Given the description of an element on the screen output the (x, y) to click on. 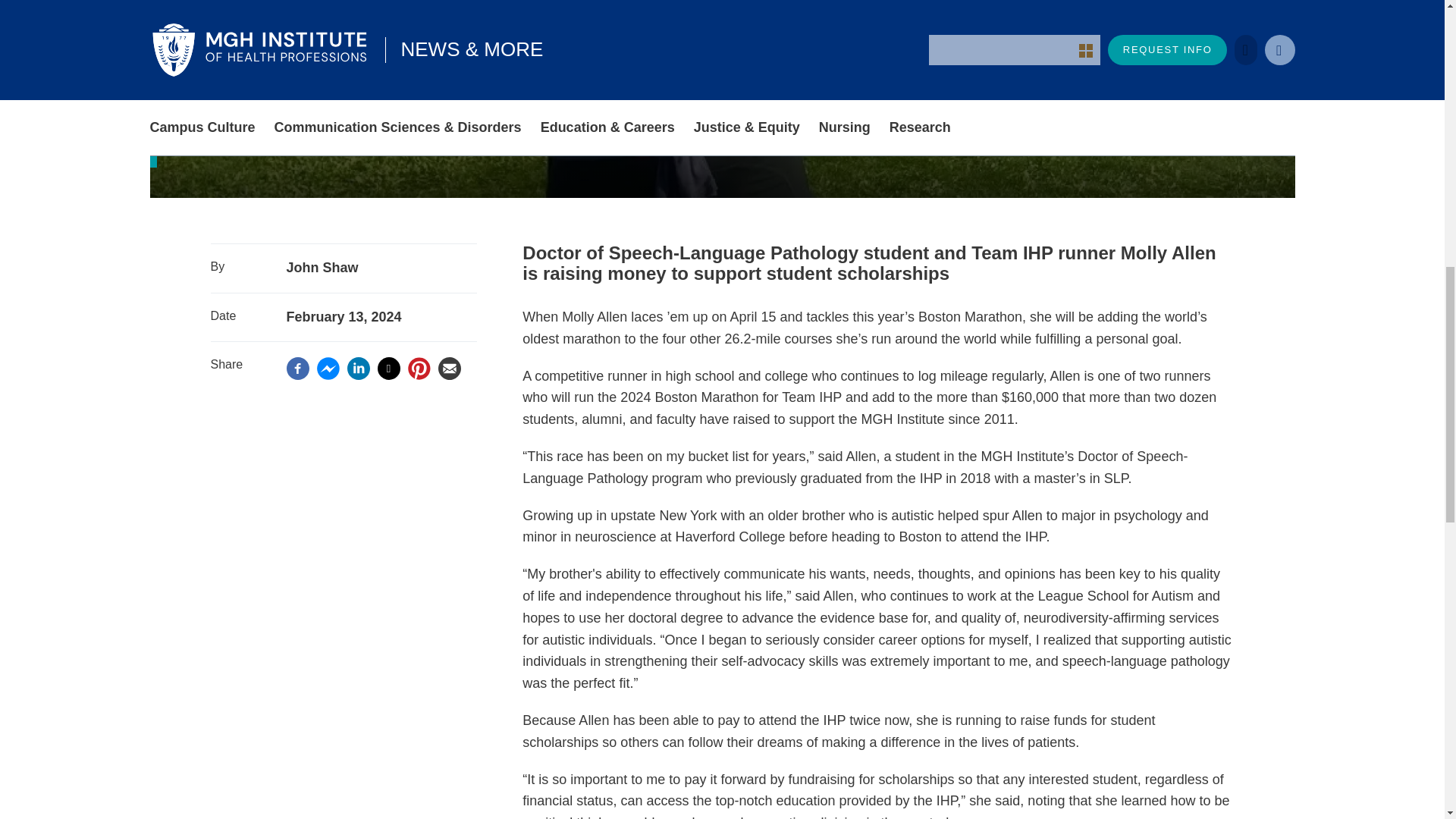
Facebook messenger (328, 366)
Pinterest (418, 366)
Twitter (388, 368)
Email (449, 366)
Linkedin (358, 366)
Facebook (297, 366)
